Given the description of an element on the screen output the (x, y) to click on. 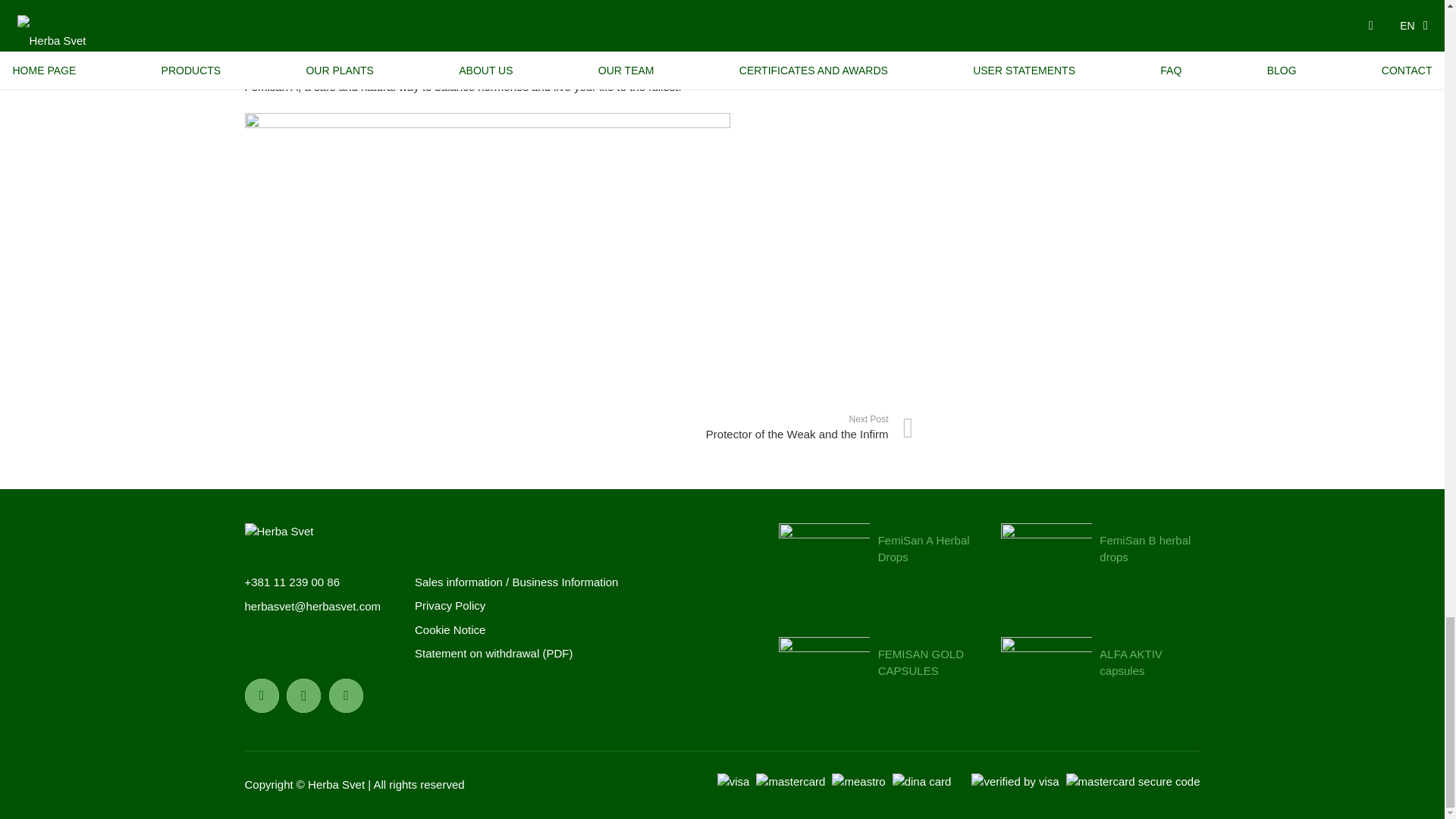
Privacy Policy (449, 604)
YouTube (345, 695)
Protector of the Weak and the Infirm (746, 427)
Instagram (303, 695)
Facebook (261, 695)
Cookie Notice (449, 629)
